Given the description of an element on the screen output the (x, y) to click on. 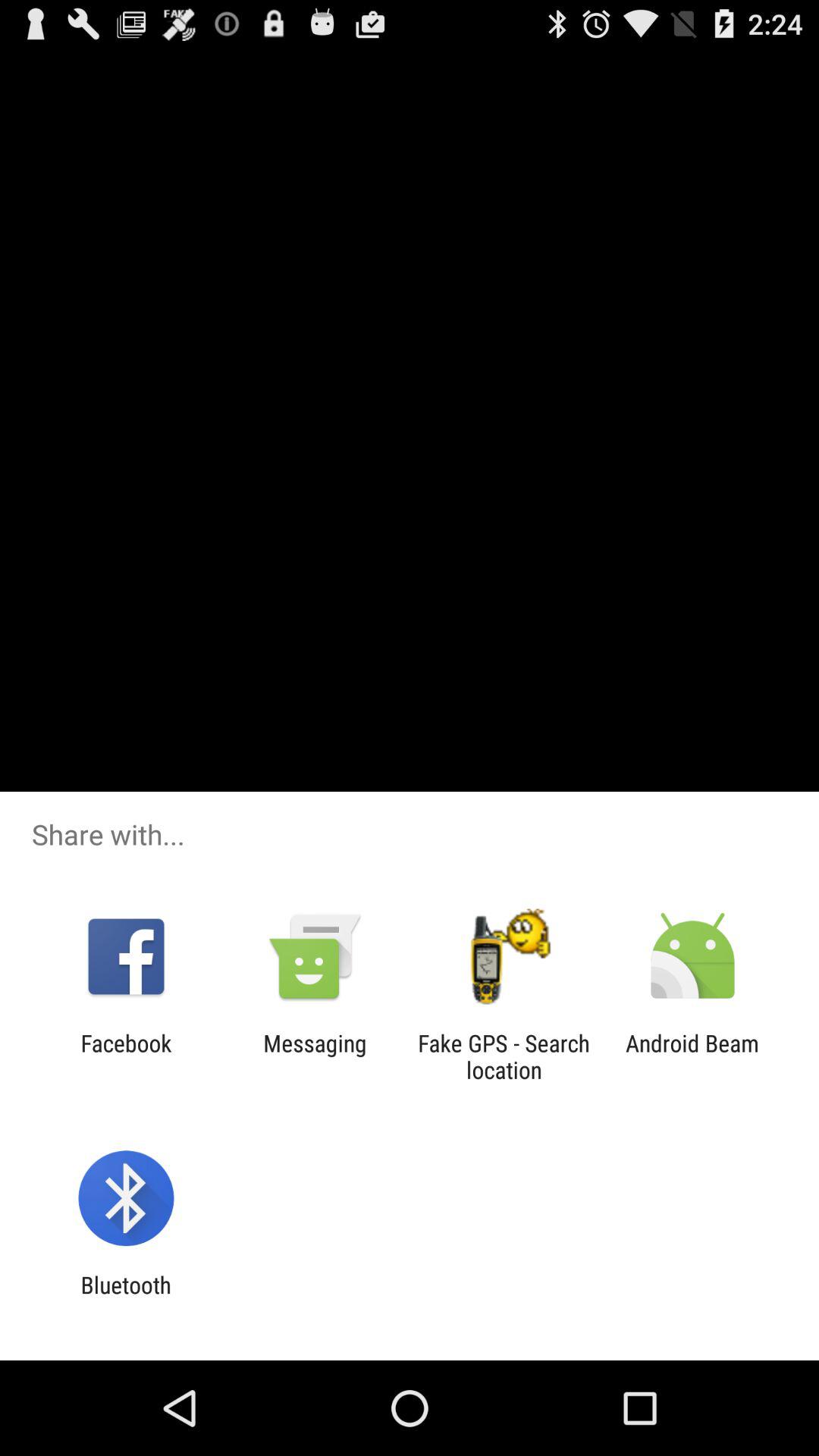
tap app next to fake gps search (314, 1056)
